Given the description of an element on the screen output the (x, y) to click on. 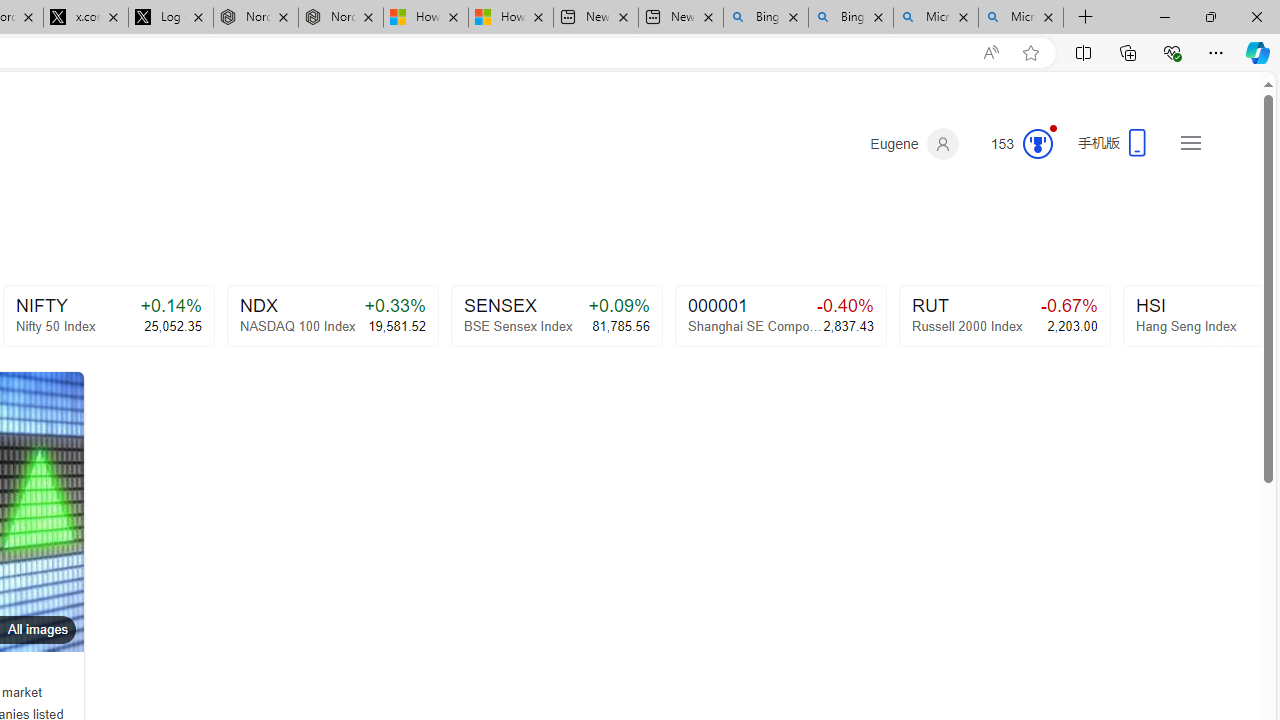
NIFTY +0.14% Nifty 50 Index 25,052.35 (108, 315)
Class: medal-circled (1037, 143)
Bing AI - Search (851, 17)
RUT -0.67% Russell 2000 Index 2,203.00 (1004, 315)
